Given the description of an element on the screen output the (x, y) to click on. 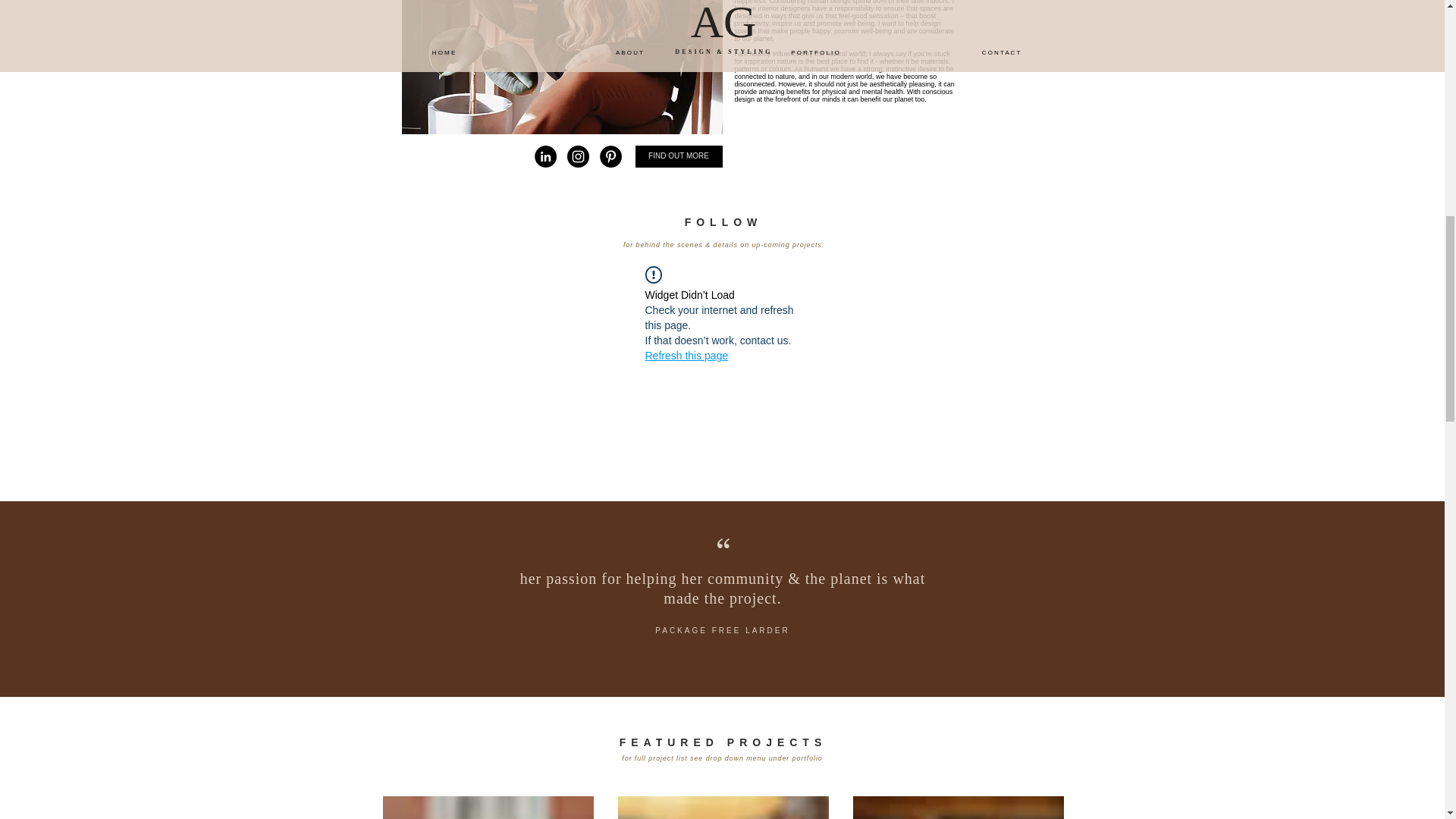
FIND OUT MORE (678, 156)
Refresh this page (686, 355)
